Given the description of an element on the screen output the (x, y) to click on. 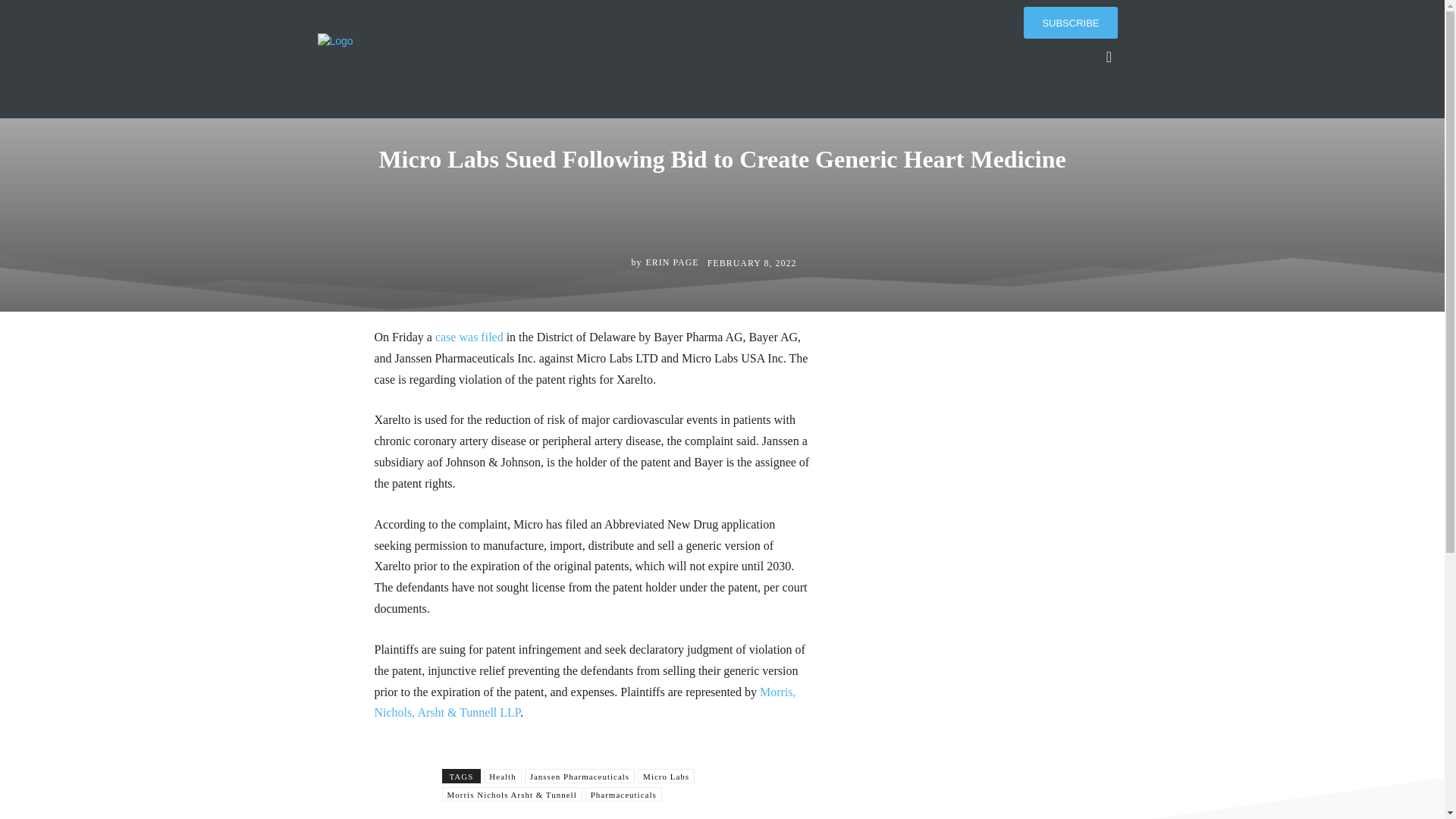
Subscribe (1069, 22)
PHARMACEUTICALS (745, 97)
case was filed (467, 336)
SUBSCRIBE (1069, 22)
HEALTH (667, 97)
Micro Labs (665, 775)
ERIN PAGE (671, 261)
Health (502, 775)
Janssen Pharmaceuticals (579, 775)
